Given the description of an element on the screen output the (x, y) to click on. 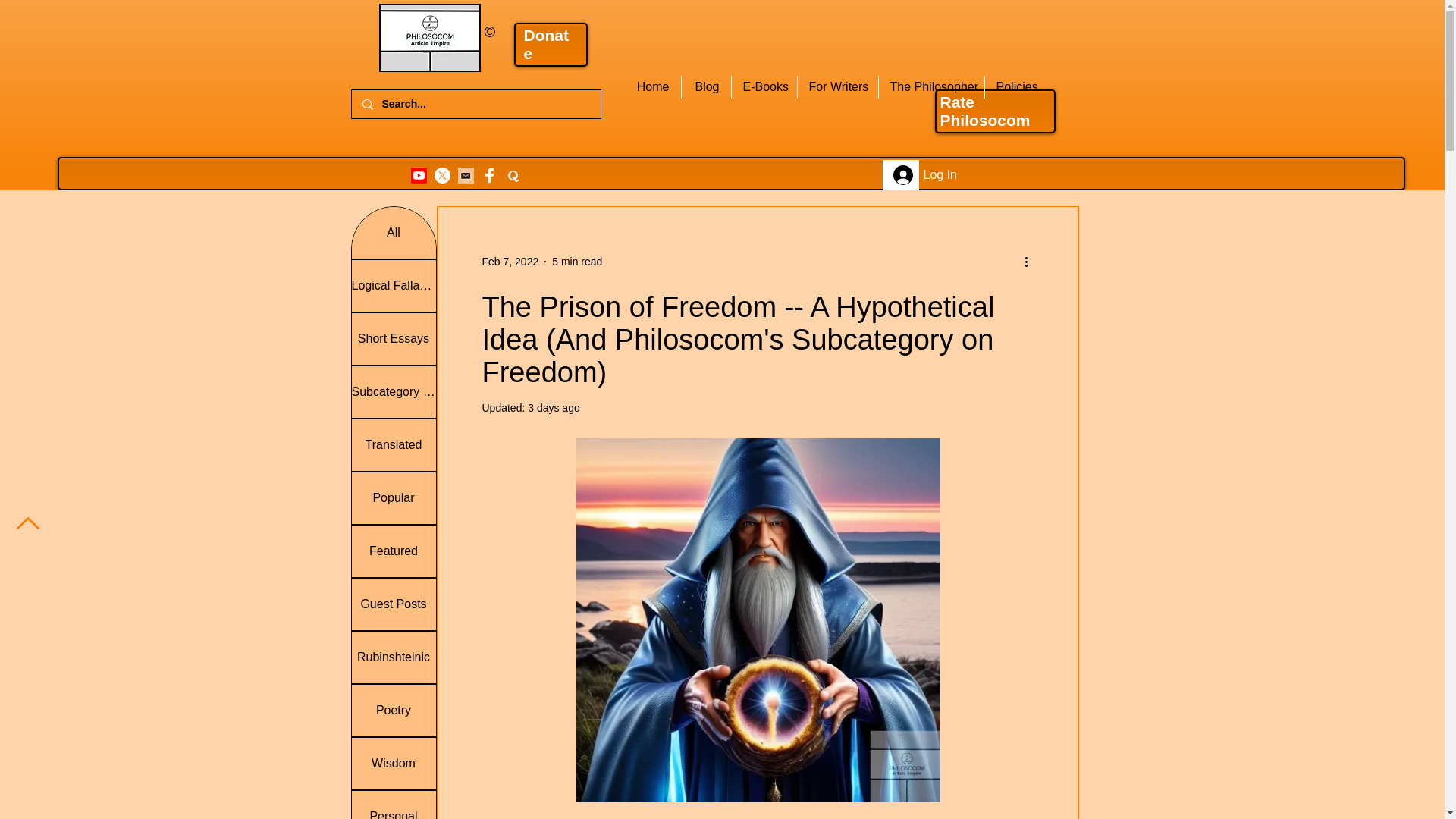
Donate (545, 44)
3 days ago (553, 408)
Poetry (393, 710)
Translated (393, 444)
Featured (393, 551)
Wisdom (393, 763)
5 min read (576, 260)
Rate Philosocom (985, 110)
Logical Fallacies (393, 286)
Popular (393, 498)
Personal (393, 805)
All (393, 232)
Rubinshteinic (393, 657)
Subcategory Directories (393, 391)
